Given the description of an element on the screen output the (x, y) to click on. 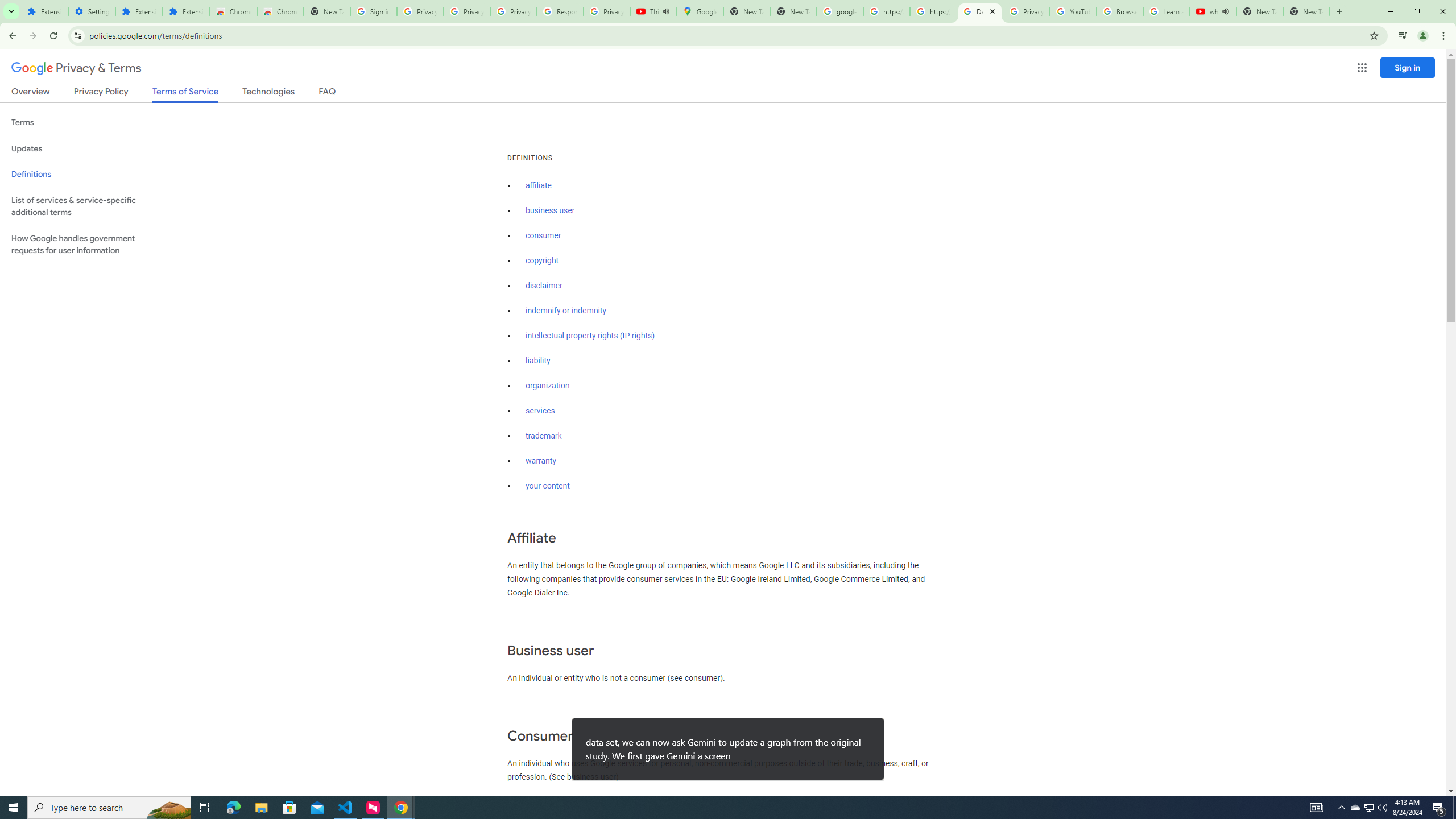
copyright (542, 260)
Sign in - Google Accounts (373, 11)
